Given the description of an element on the screen output the (x, y) to click on. 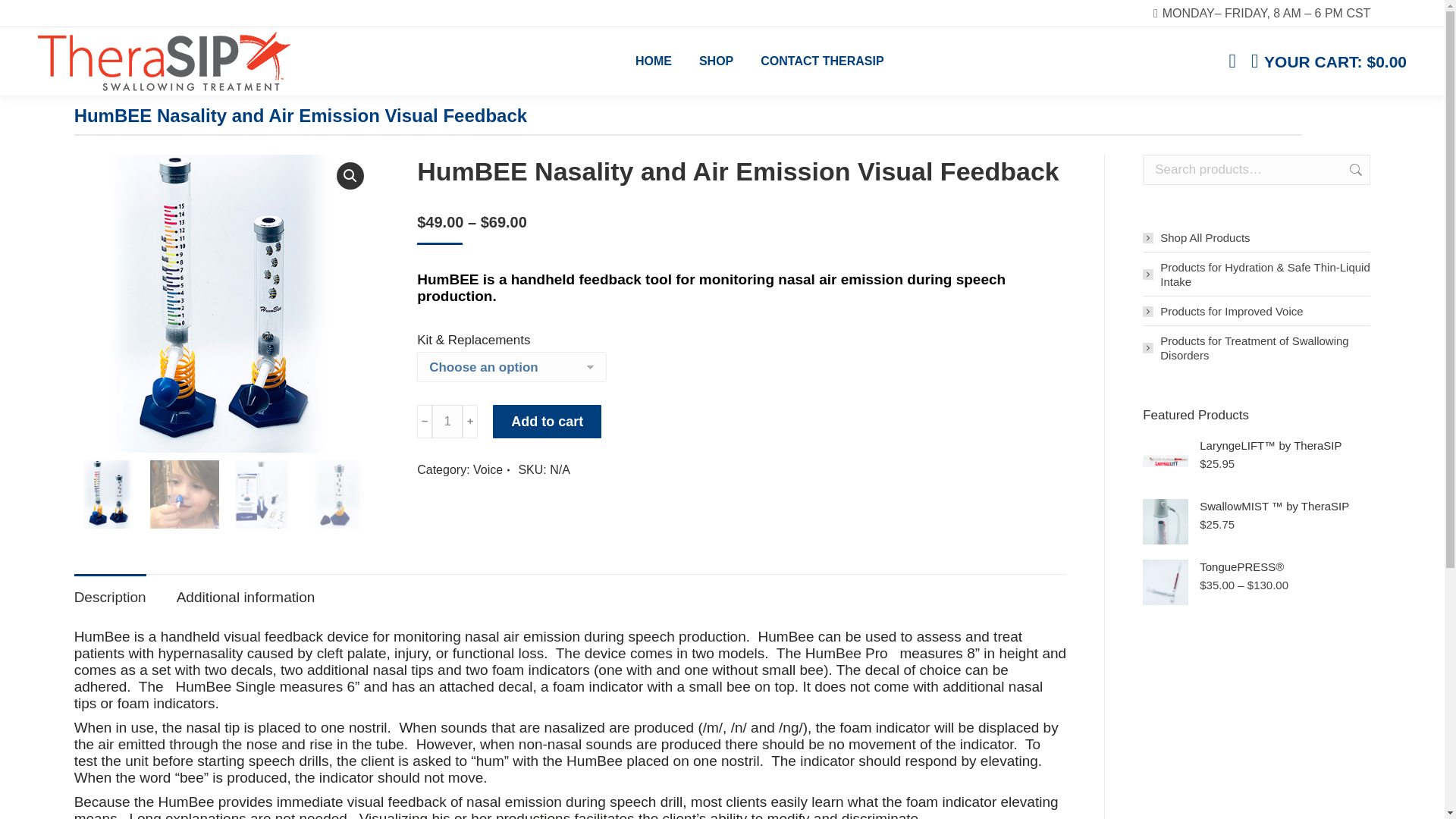
CONTACT THERASIP (821, 60)
1 (447, 421)
HOME (653, 60)
humbee-3 (223, 303)
SHOP (715, 60)
Go! (24, 16)
